Given the description of an element on the screen output the (x, y) to click on. 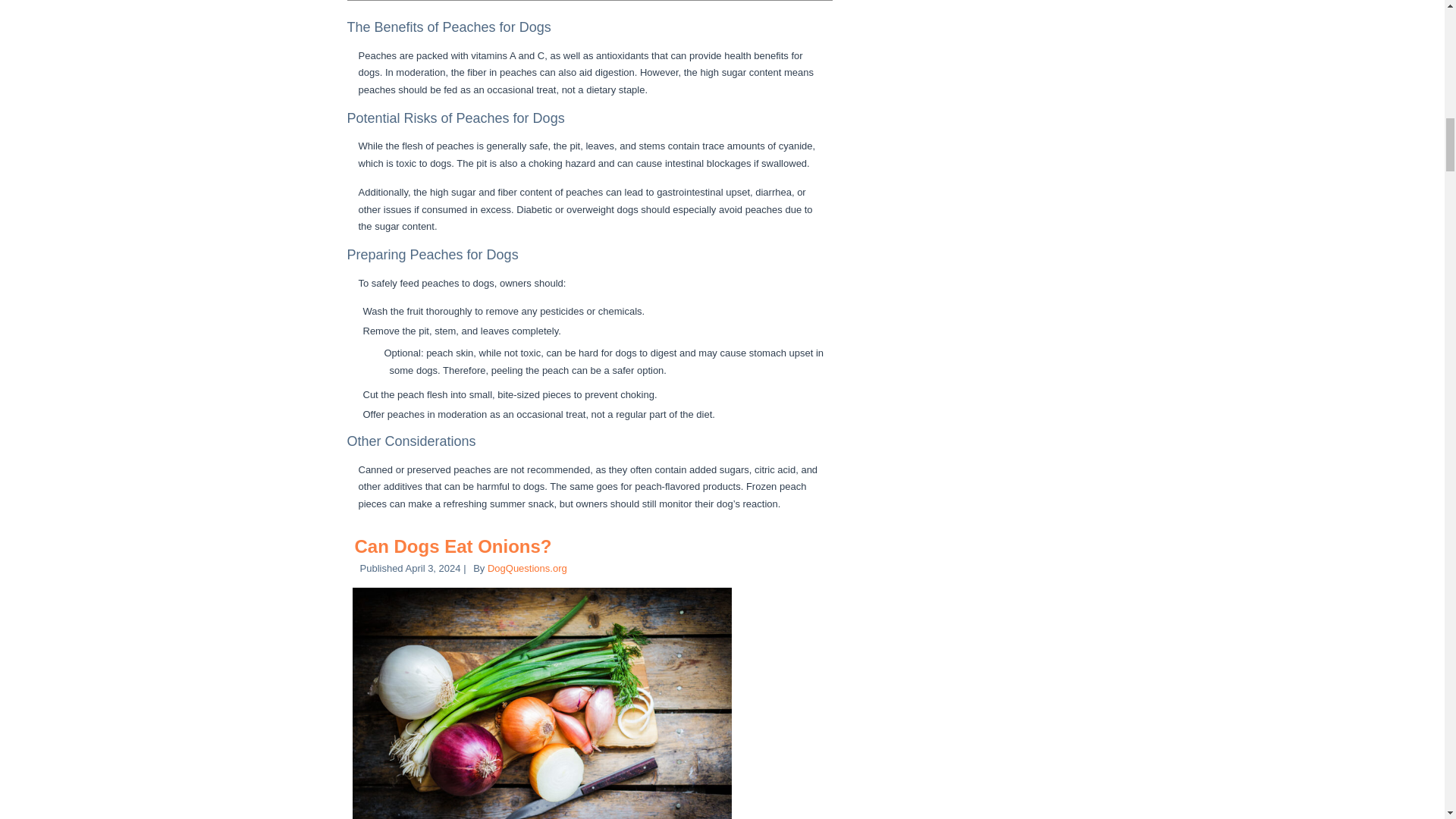
10:49 pm (433, 568)
DogQuestions.org (527, 568)
Can Dogs Eat Onions? (453, 546)
View all posts by DogQuestions.org (527, 568)
Can Dogs Eat Onions? (453, 546)
